Given the description of an element on the screen output the (x, y) to click on. 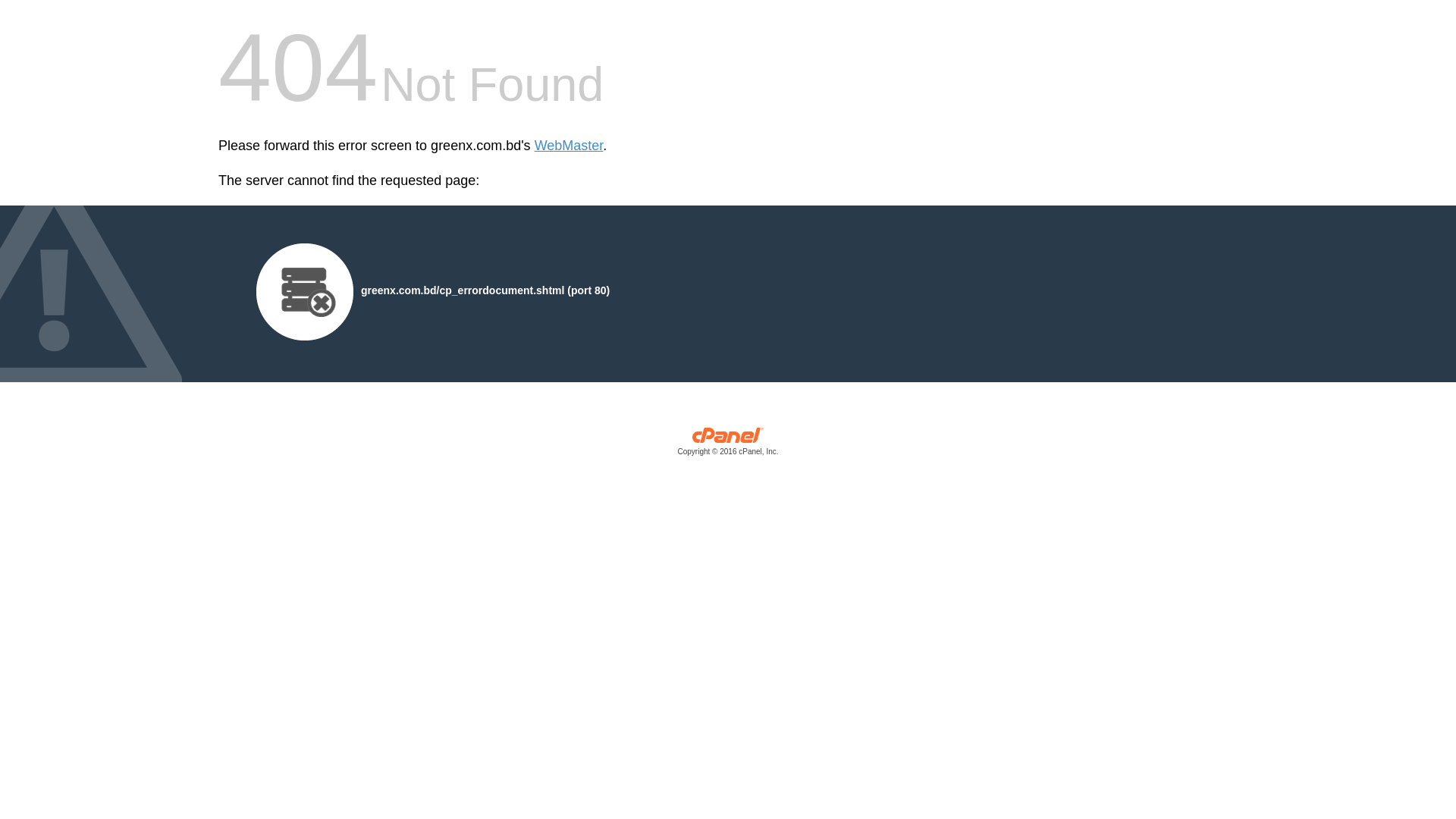
WebMaster Element type: text (568, 145)
